Given the description of an element on the screen output the (x, y) to click on. 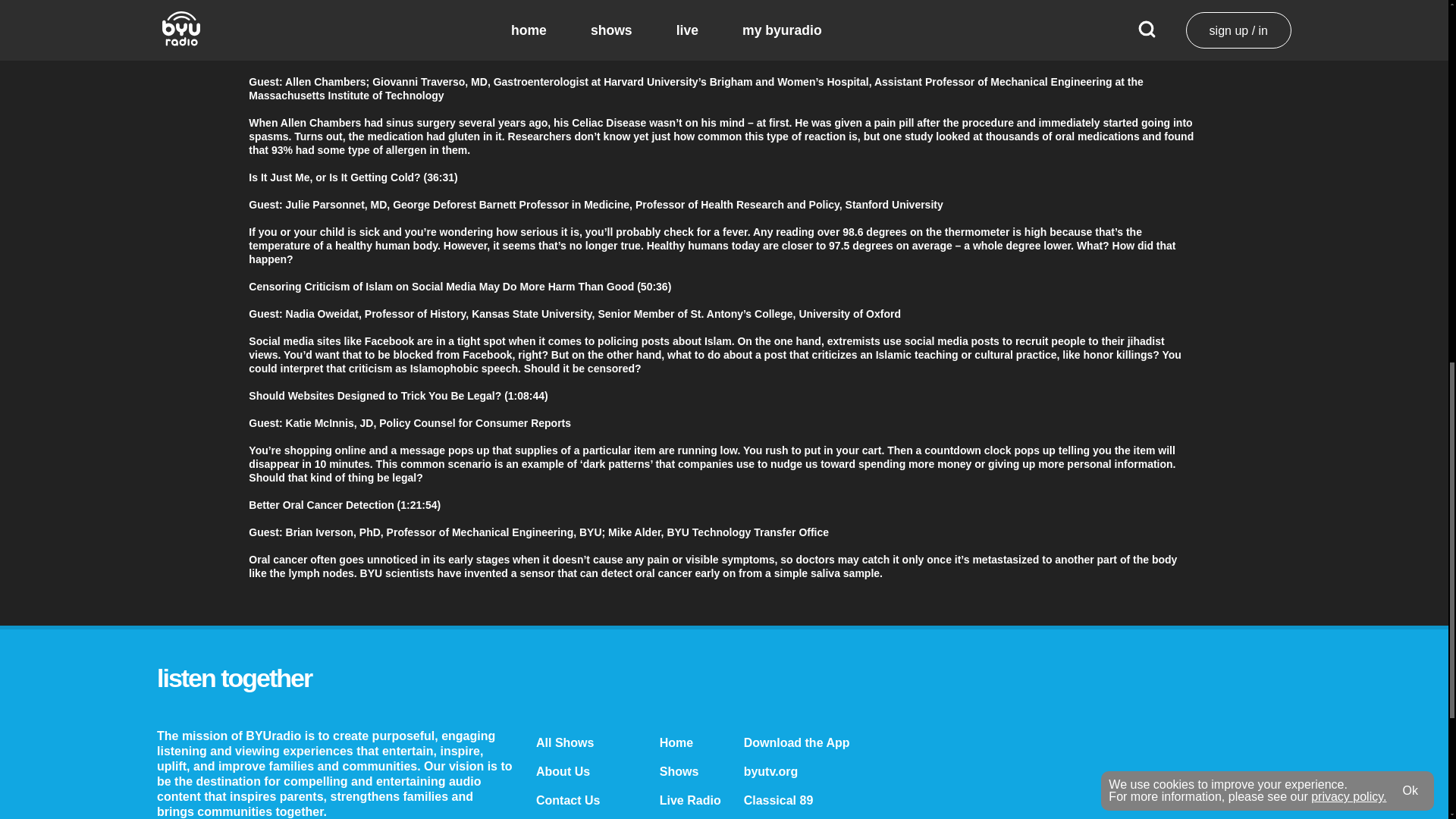
Classical 89 (778, 799)
Shows (678, 771)
About Us (562, 771)
Contact Us (567, 799)
All Shows (564, 742)
Download the App (797, 742)
byutv.org (770, 771)
Home (676, 742)
Live Radio (689, 799)
